Given the description of an element on the screen output the (x, y) to click on. 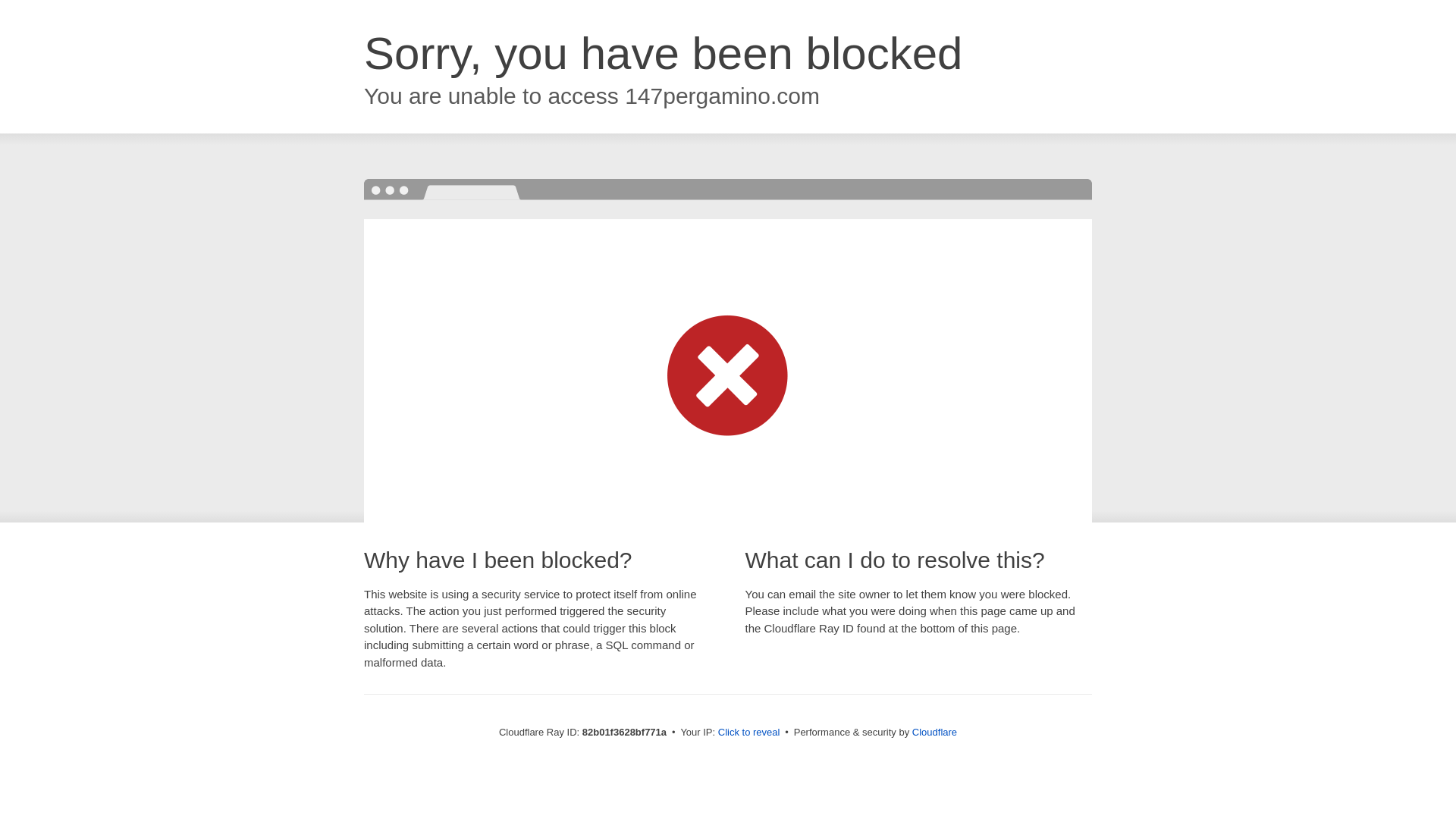
Cloudflare Element type: text (934, 731)
Click to reveal Element type: text (749, 732)
